Given the description of an element on the screen output the (x, y) to click on. 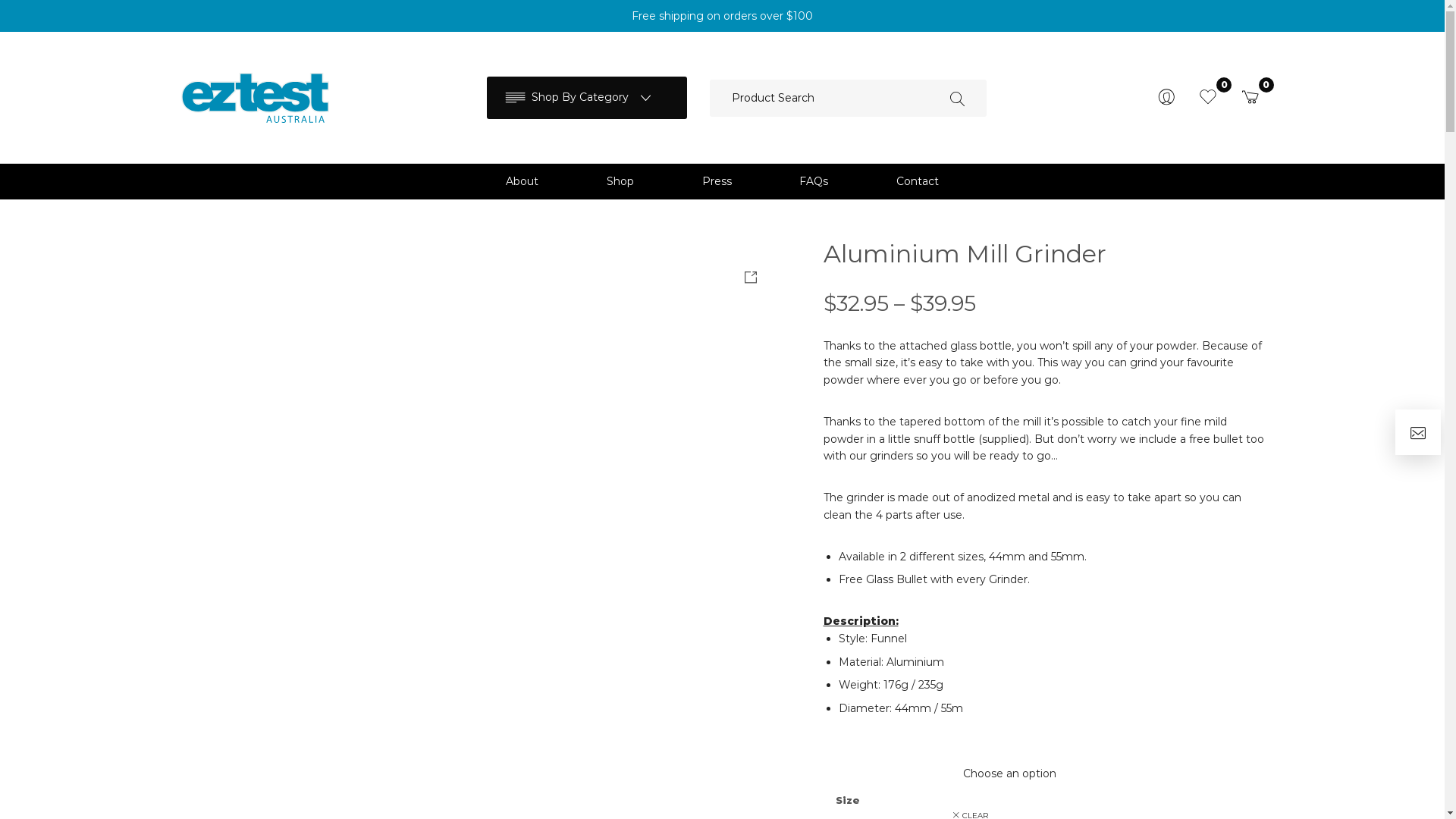
About Element type: text (522, 180)
Ez-Test Australia Element type: hover (254, 97)
Shop Element type: text (620, 180)
Contact Element type: text (917, 180)
0 Element type: text (1250, 97)
0 Element type: text (1207, 97)
FAQs Element type: text (813, 180)
Press Element type: text (716, 180)
